Given the description of an element on the screen output the (x, y) to click on. 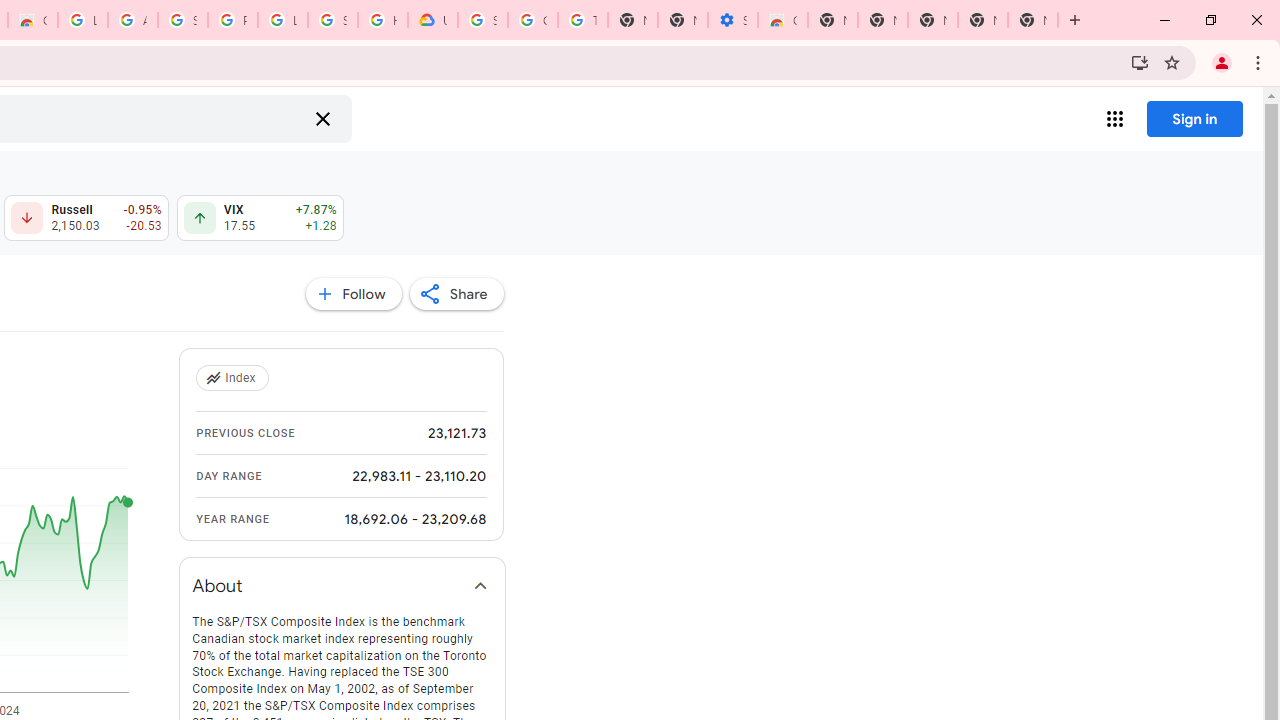
New Tab (832, 20)
Turn cookies on or off - Computer - Google Account Help (582, 20)
Sign in - Google Accounts (333, 20)
